Given the description of an element on the screen output the (x, y) to click on. 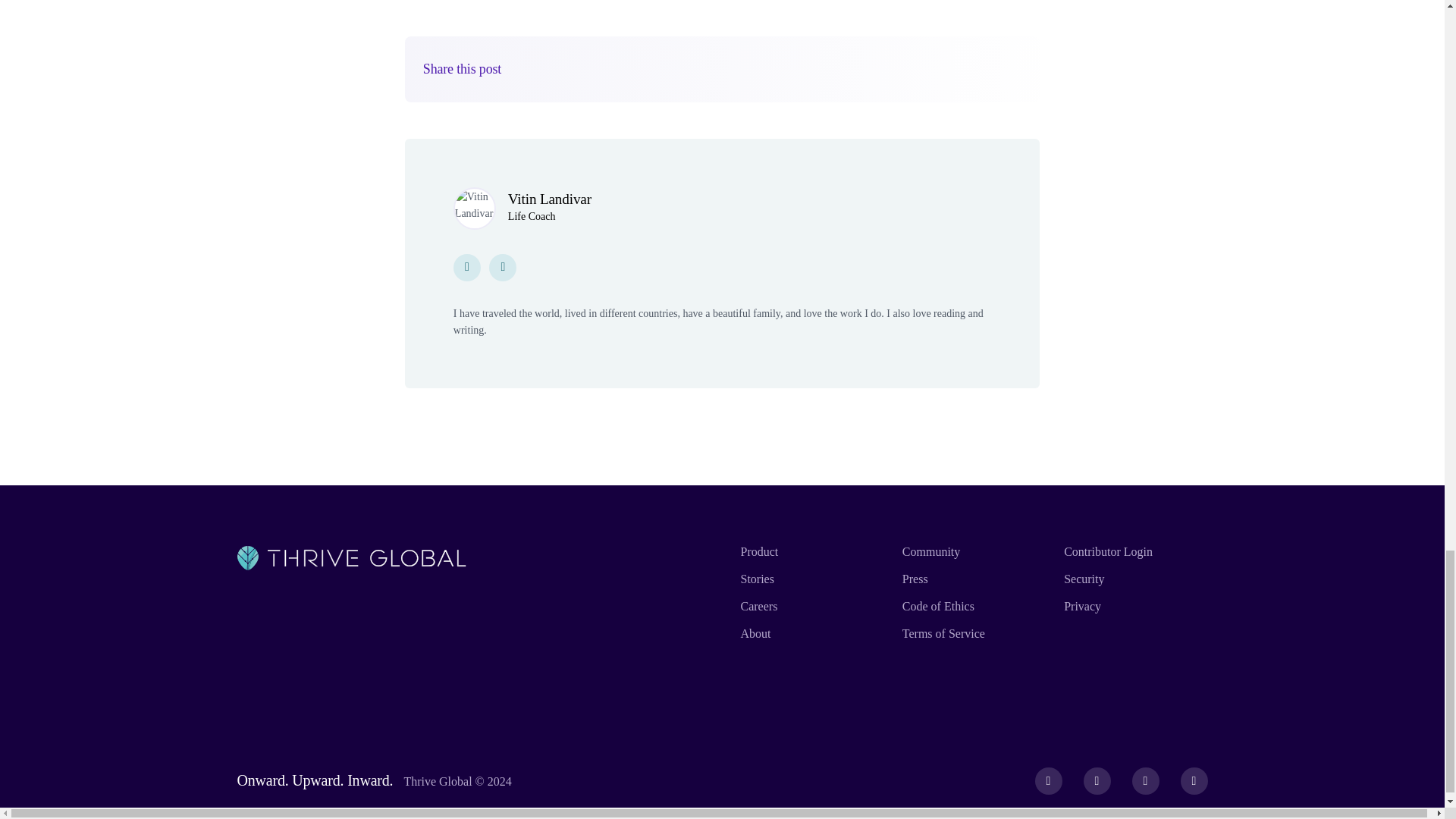
Vitin Landivar (549, 198)
